Given the description of an element on the screen output the (x, y) to click on. 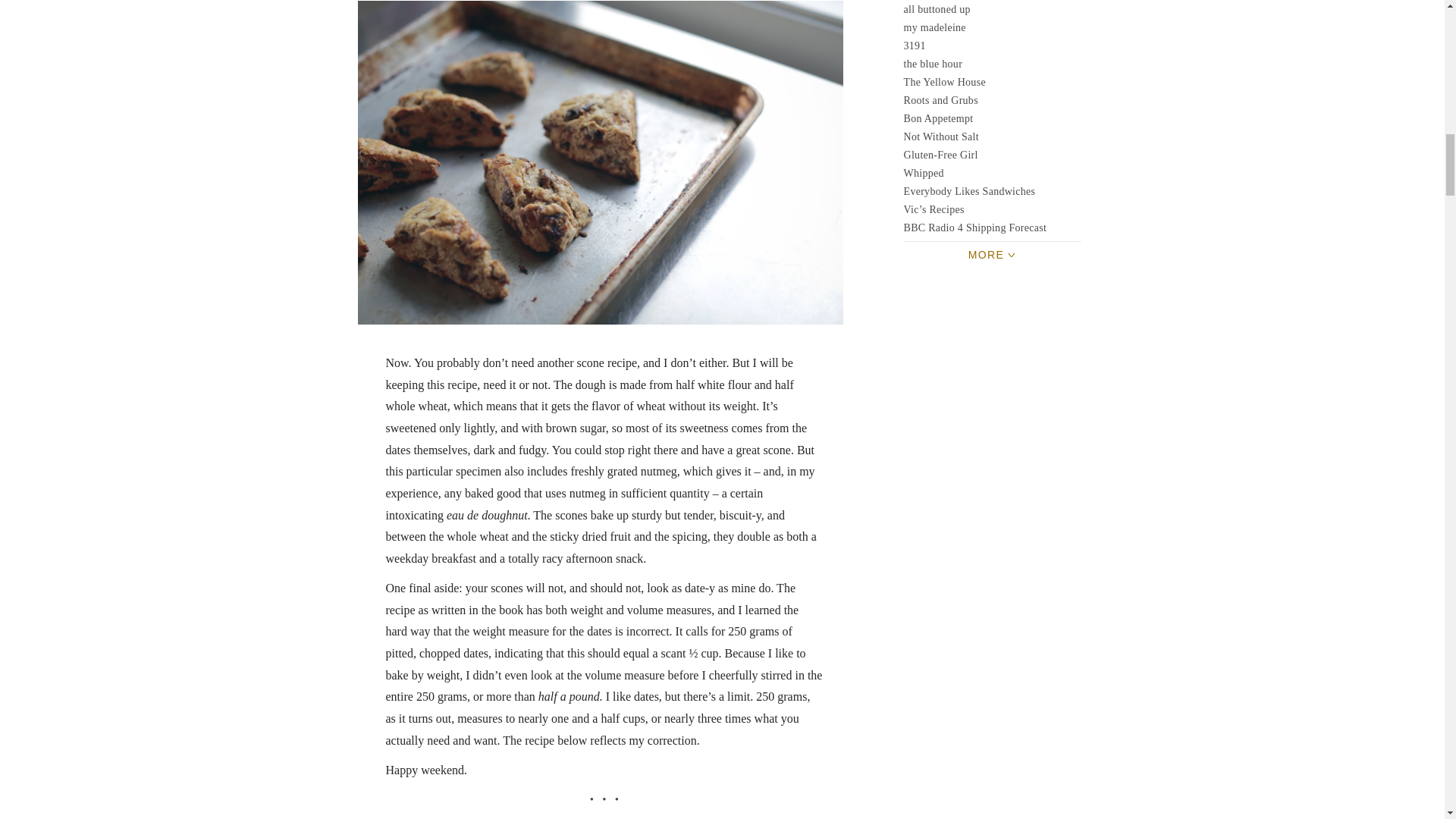
Amelia Morris is really funny (939, 118)
